Given the description of an element on the screen output the (x, y) to click on. 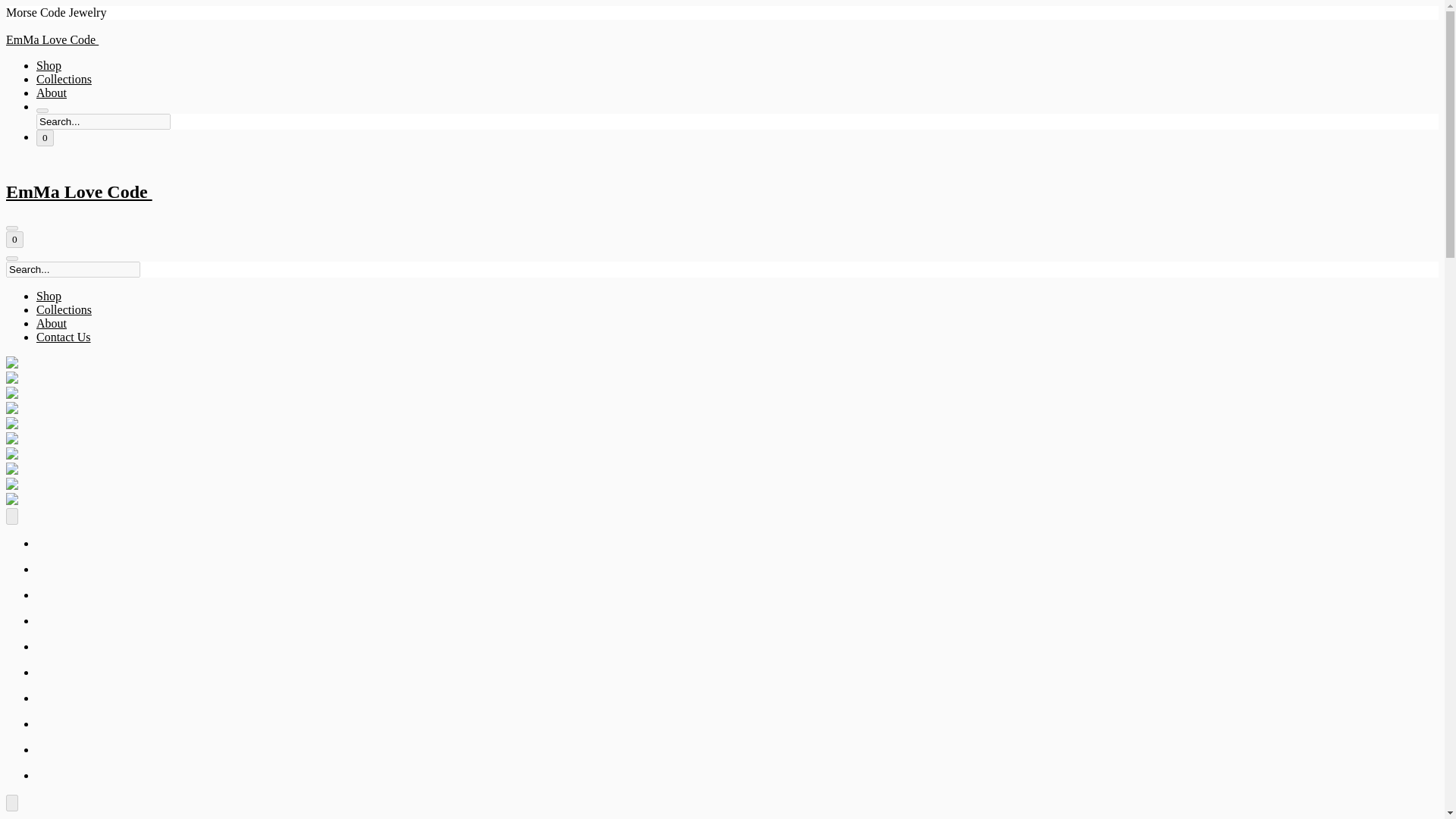
Shop (48, 295)
Shop (48, 65)
0 (44, 137)
Collections (63, 309)
Collections (63, 78)
About (51, 323)
About (51, 92)
0 (14, 239)
Contact Us (63, 336)
